Given the description of an element on the screen output the (x, y) to click on. 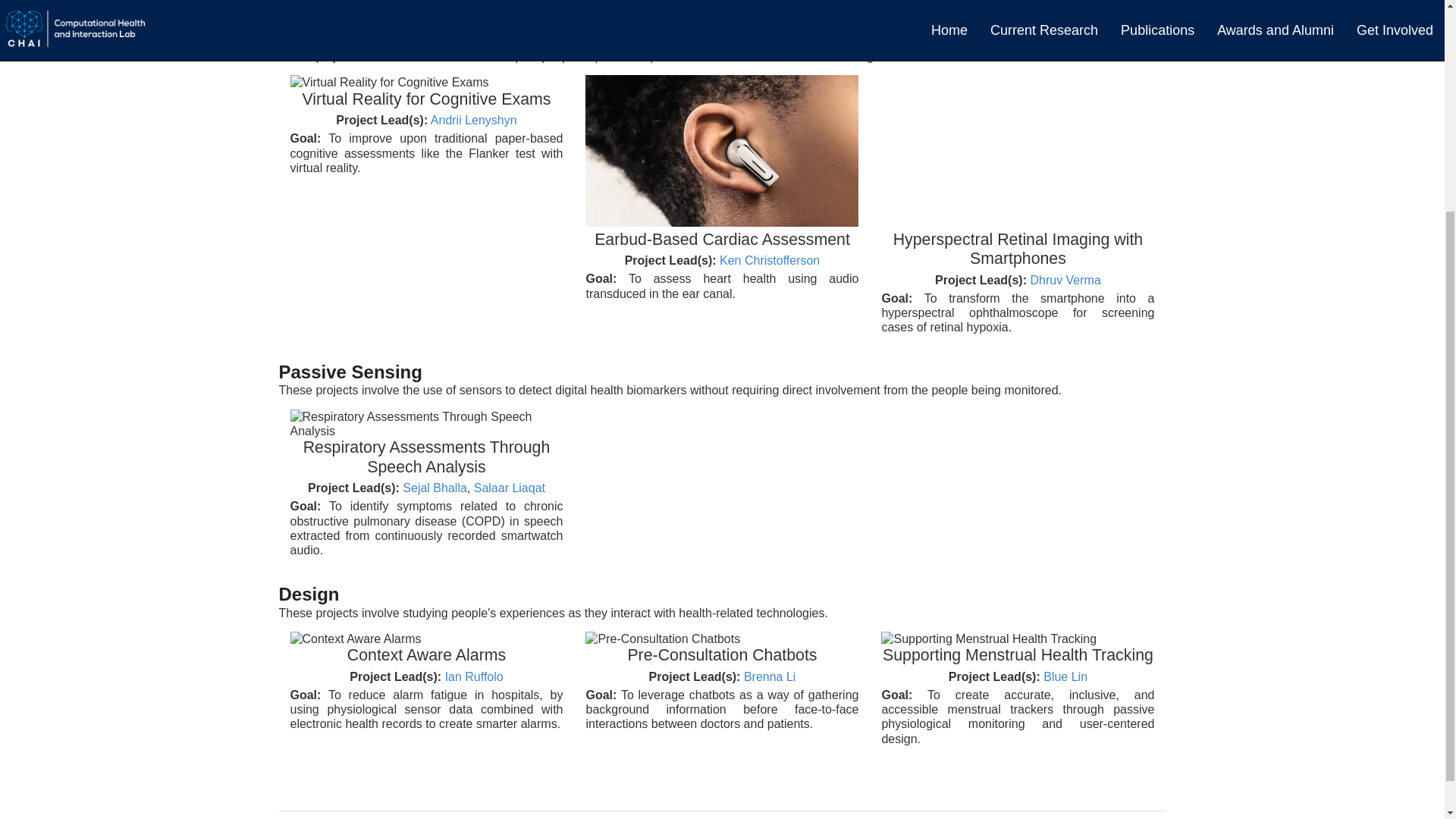
Salaar Liaqat (509, 487)
Blue Lin (1065, 676)
Ian Ruffolo (474, 676)
Sejal Bhalla (435, 487)
Andrii Lenyshyn (473, 119)
Ken Christofferson (769, 259)
Prof. Alex Mariakakis (797, 8)
Brenna Li (770, 676)
